Given the description of an element on the screen output the (x, y) to click on. 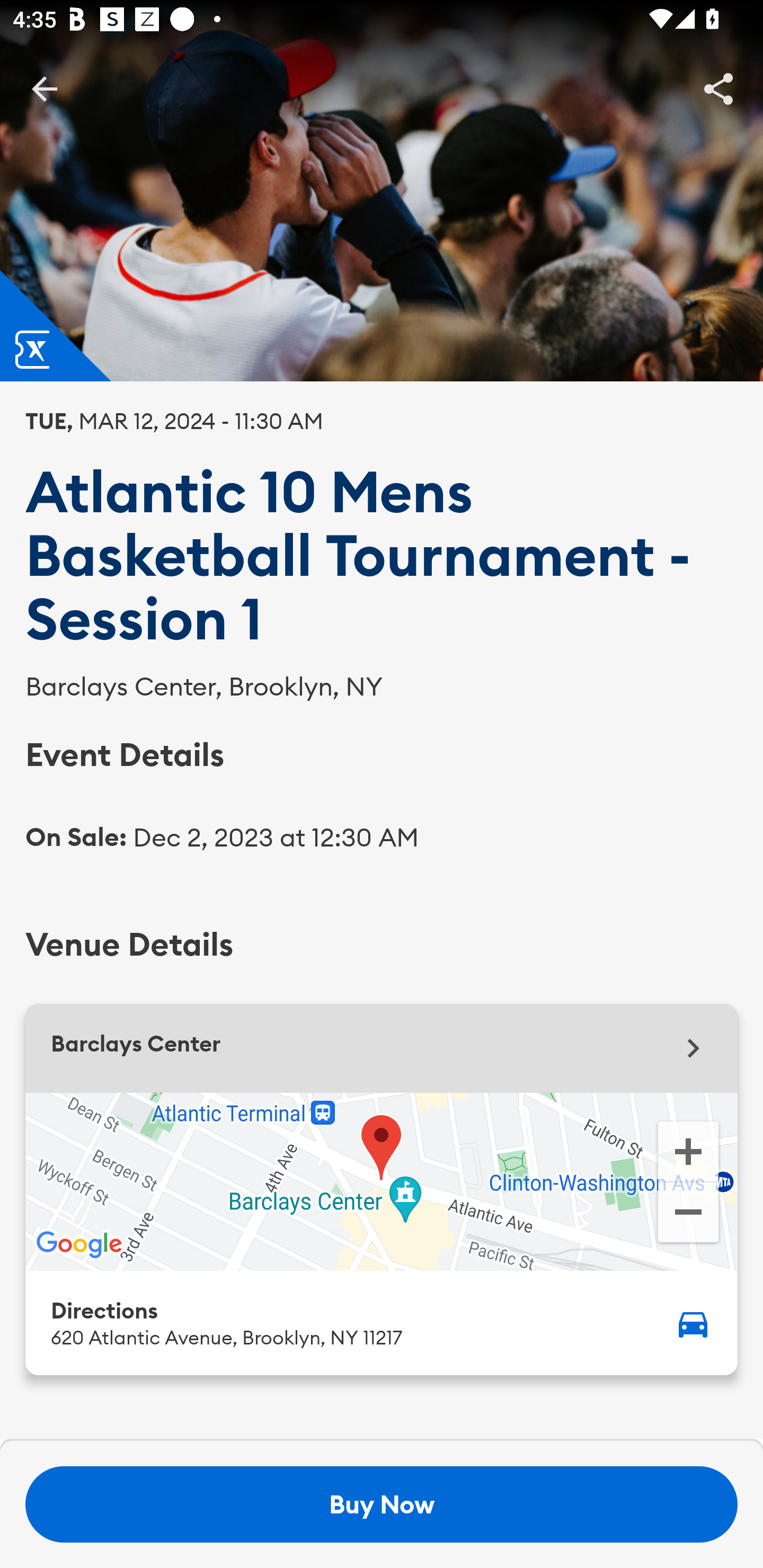
BackButton (44, 88)
Share (718, 88)
Barclays Center (381, 1047)
Google Map Barclays Center.  Zoom in Zoom out (381, 1181)
Zoom in (687, 1149)
Zoom out (687, 1214)
Directions 620 Atlantic Avenue, Brooklyn, NY 11217 (381, 1322)
Buy Now (381, 1504)
